Given the description of an element on the screen output the (x, y) to click on. 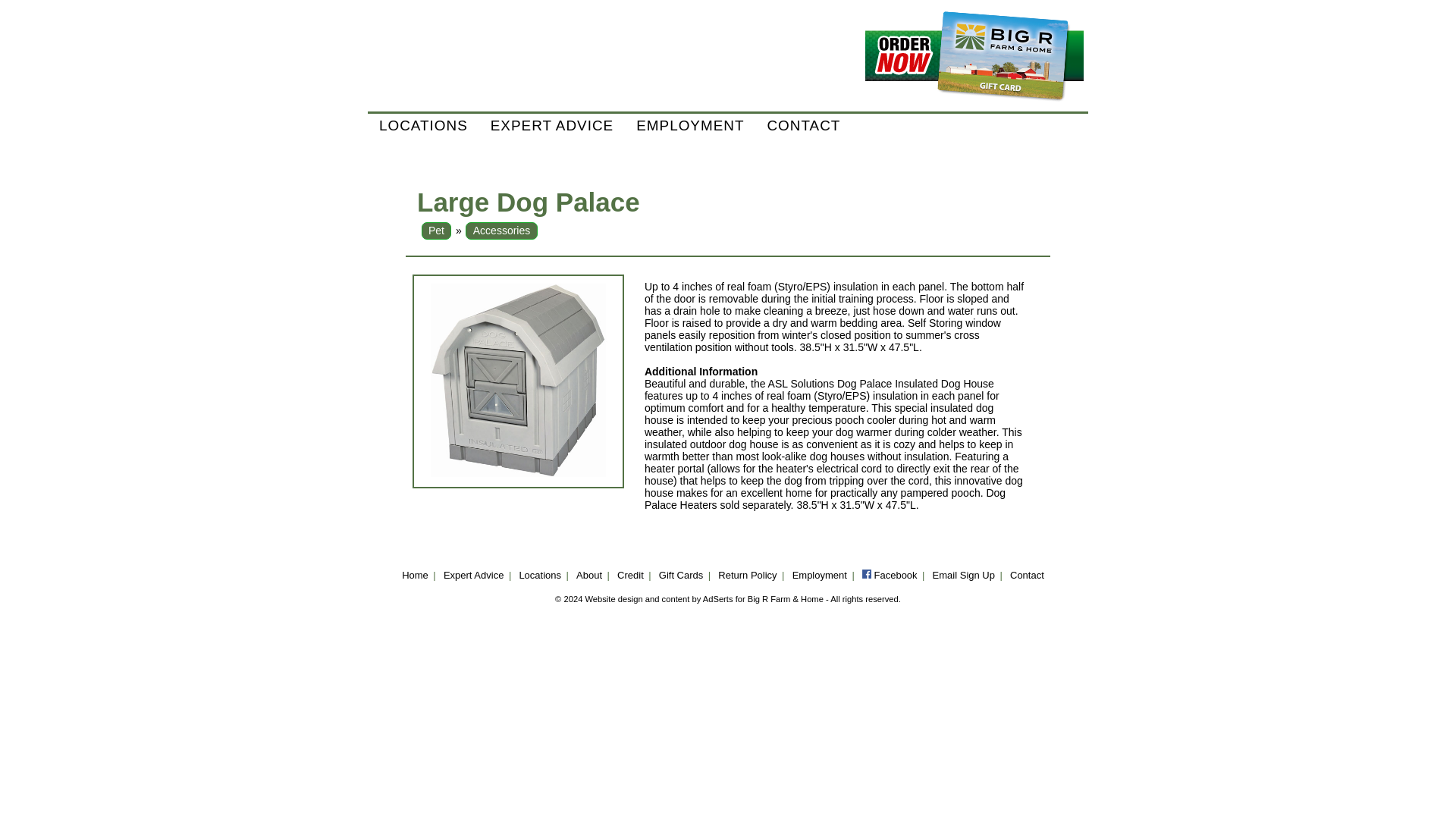
Locations (539, 574)
Expert Advice (473, 574)
EMPLOYMENT (689, 125)
AdSerts (718, 598)
Home (414, 574)
Accessories (501, 230)
About (589, 574)
CONTACT (803, 125)
Email Sign Up (963, 574)
LOCATIONS (423, 125)
Employment (819, 574)
EXPERT ADVICE (551, 125)
Contact (1026, 574)
Pet (436, 230)
Gift Cards (681, 574)
